Given the description of an element on the screen output the (x, y) to click on. 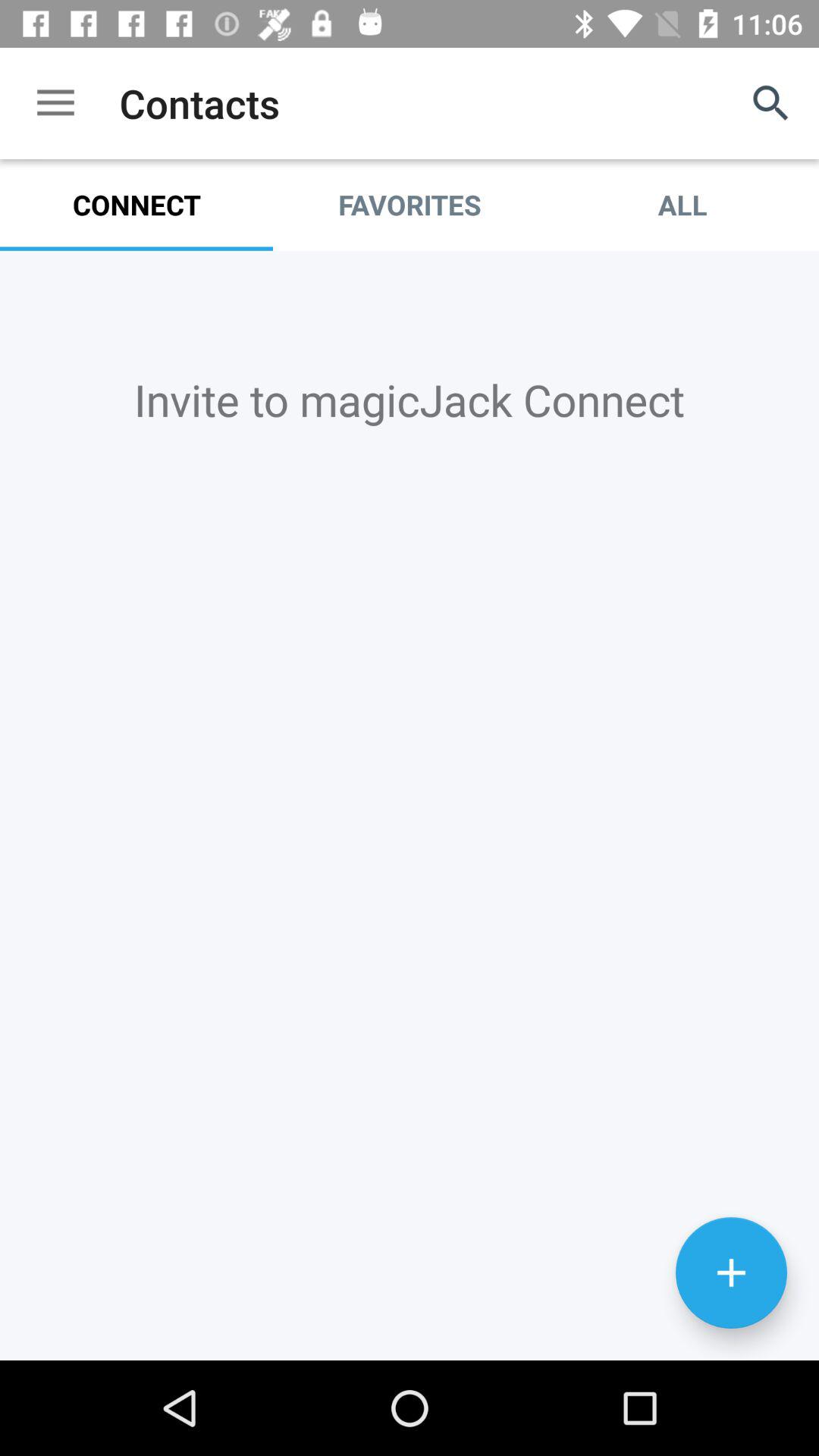
launch icon to the left of the all item (409, 204)
